Given the description of an element on the screen output the (x, y) to click on. 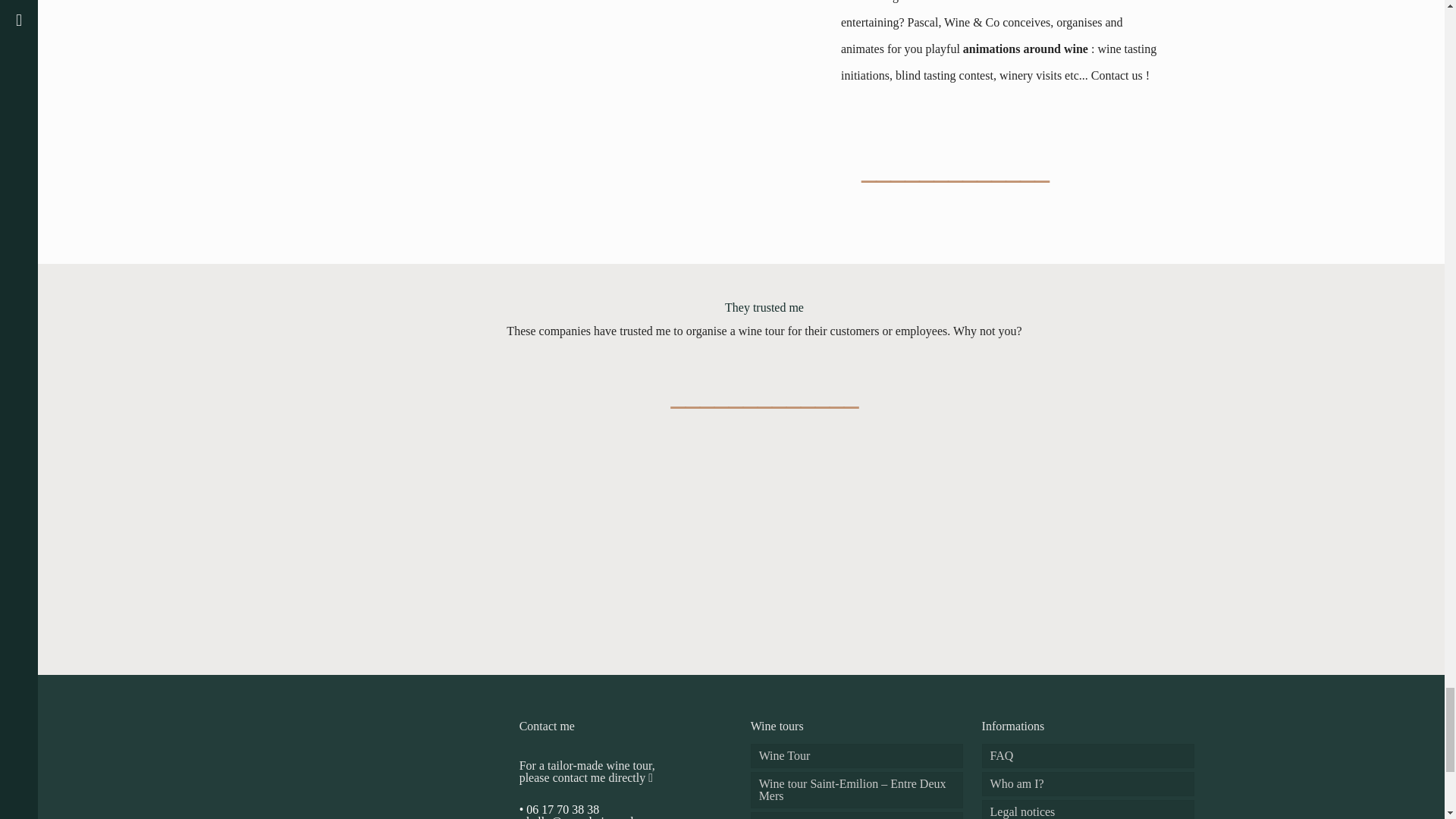
wine tour (761, 330)
